Given the description of an element on the screen output the (x, y) to click on. 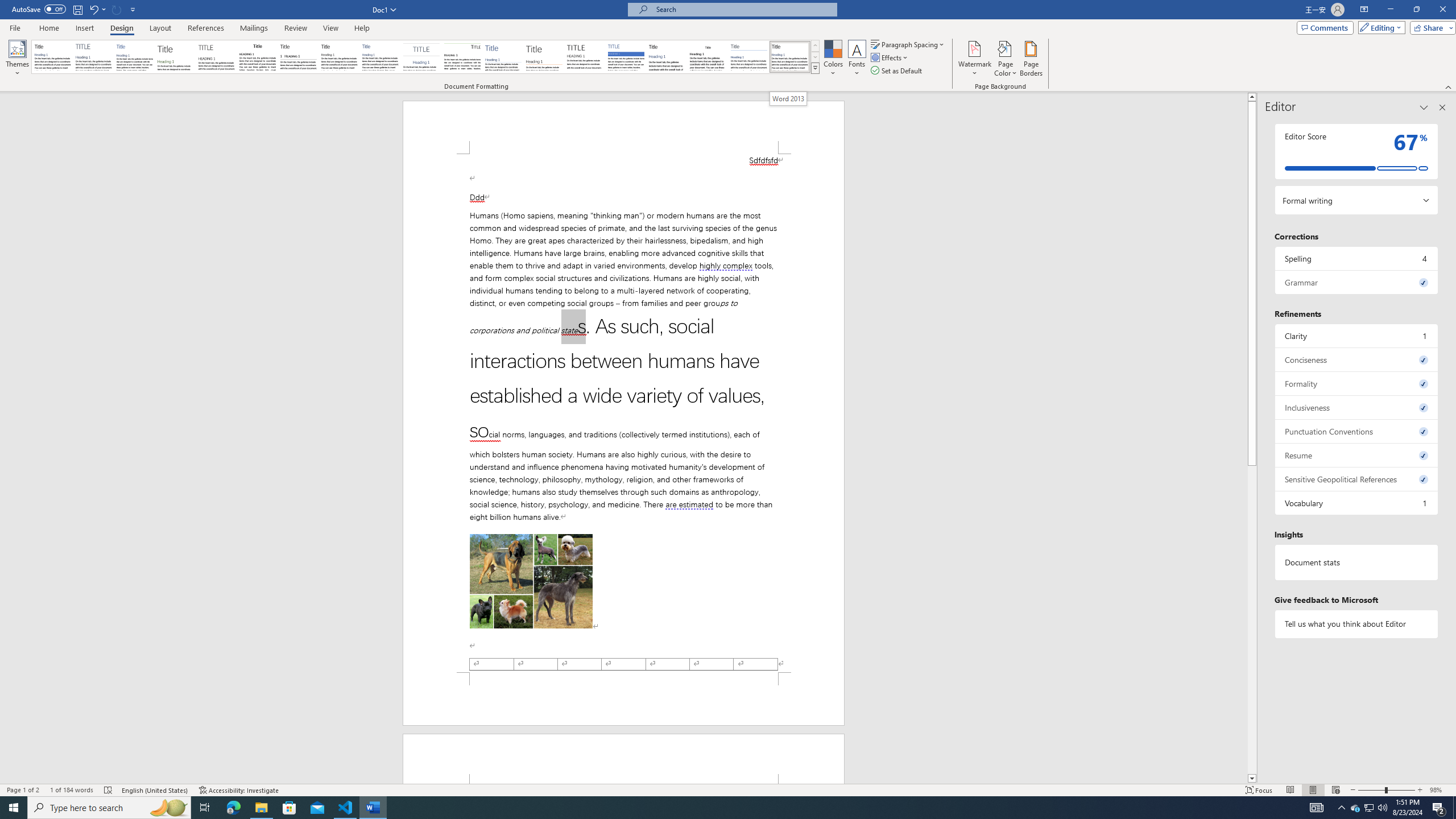
Vocabulary, 1 issue. Press space or enter to review items. (1356, 502)
Microsoft search (742, 9)
Page Borders... (1031, 58)
Effects (890, 56)
Morphological variation in six dogs (531, 580)
Black & White (Word 2013) (338, 56)
Style Set (814, 67)
Document (52, 56)
